Given the description of an element on the screen output the (x, y) to click on. 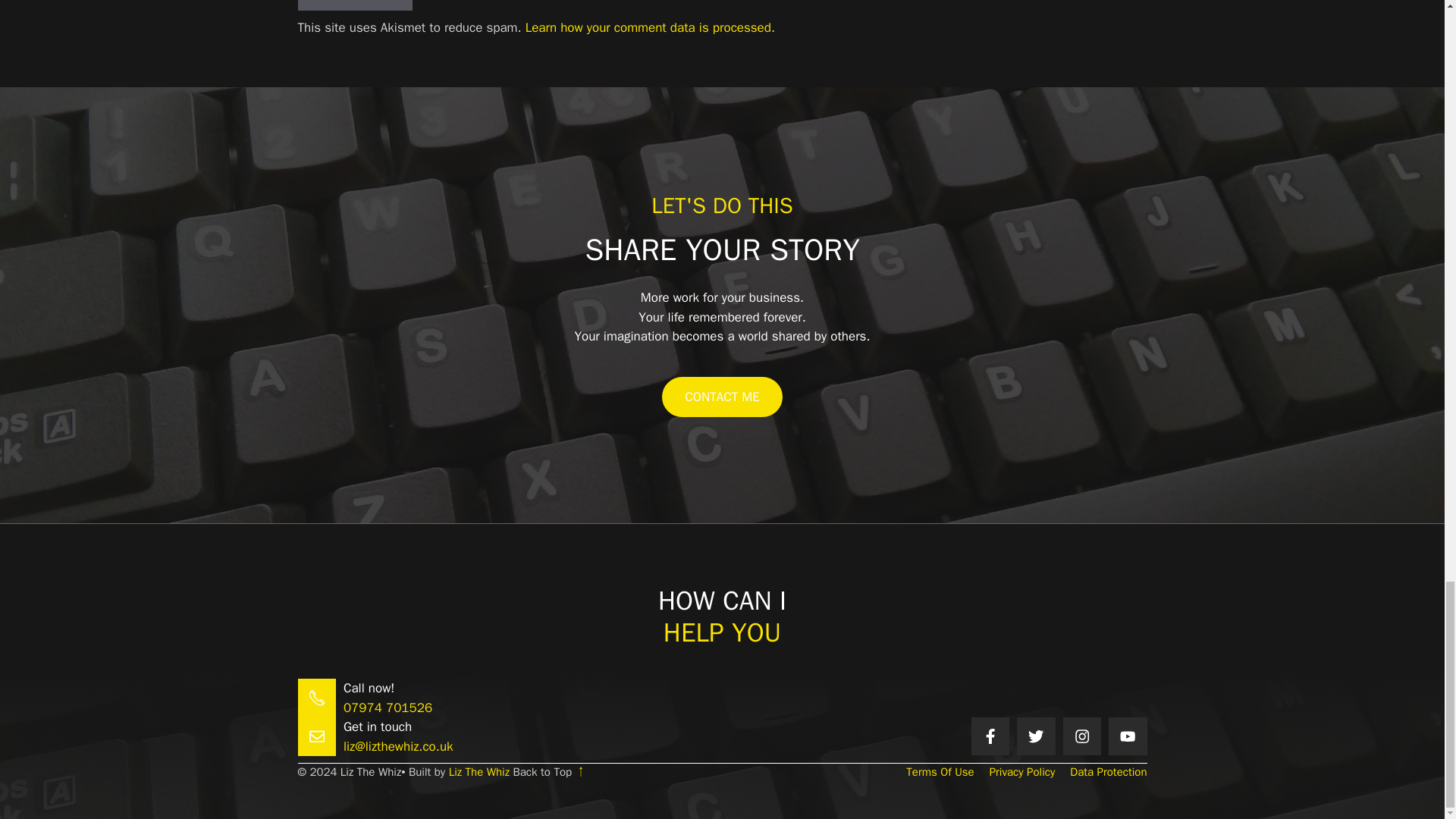
Post Comment (354, 5)
07974 701526 (387, 707)
Learn how your comment data is processed (648, 27)
Post Comment (354, 5)
CONTACT ME (722, 396)
